Given the description of an element on the screen output the (x, y) to click on. 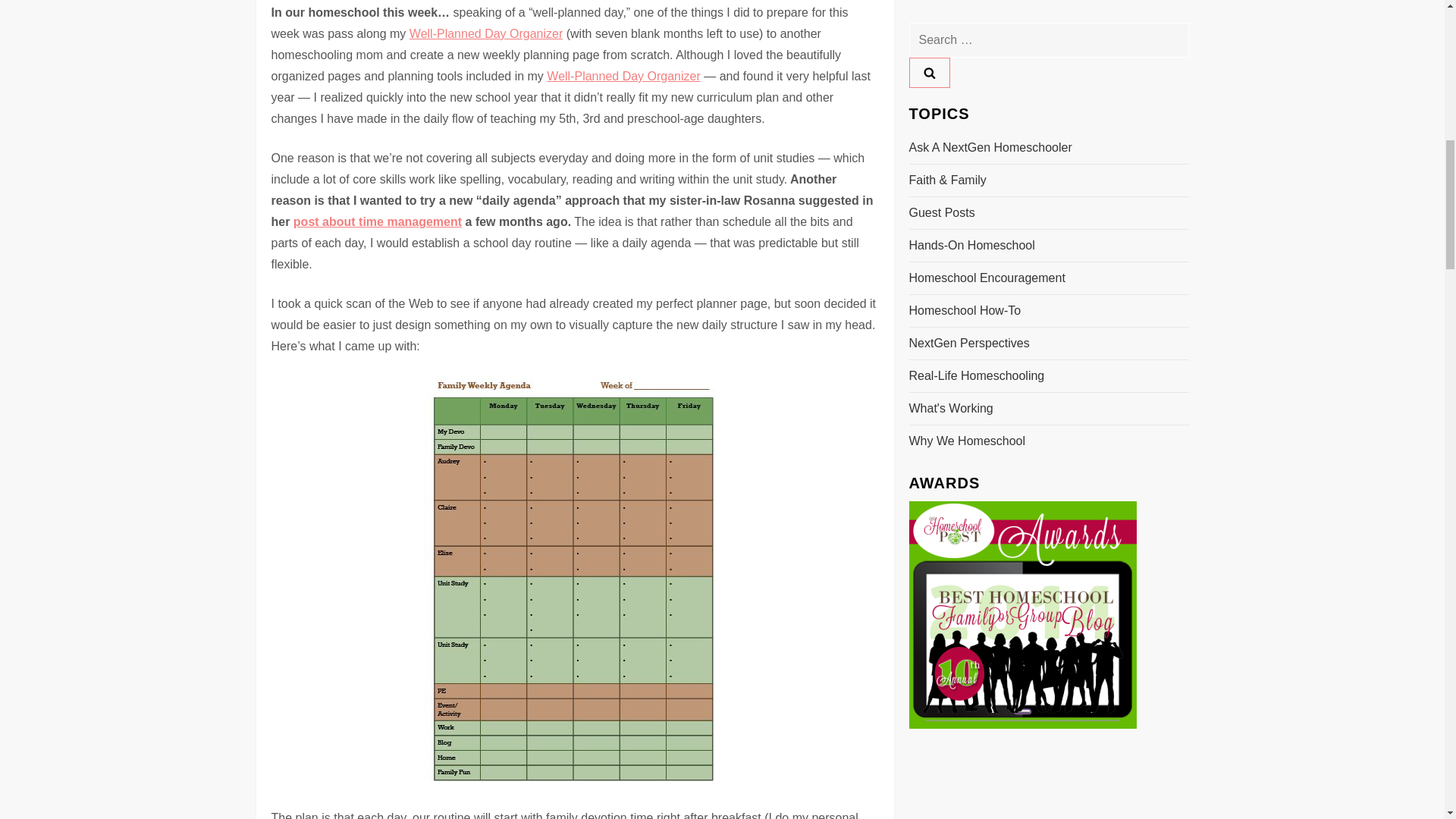
Well Planned Day Homeschool Planner (485, 33)
Well-Planned Day Organizer (485, 33)
post about time management (377, 221)
Well-Planned Day Organizer (623, 75)
Schedules, Routines and Time Management (377, 221)
Well Planned Day Homeschool Planner (623, 75)
